Given the description of an element on the screen output the (x, y) to click on. 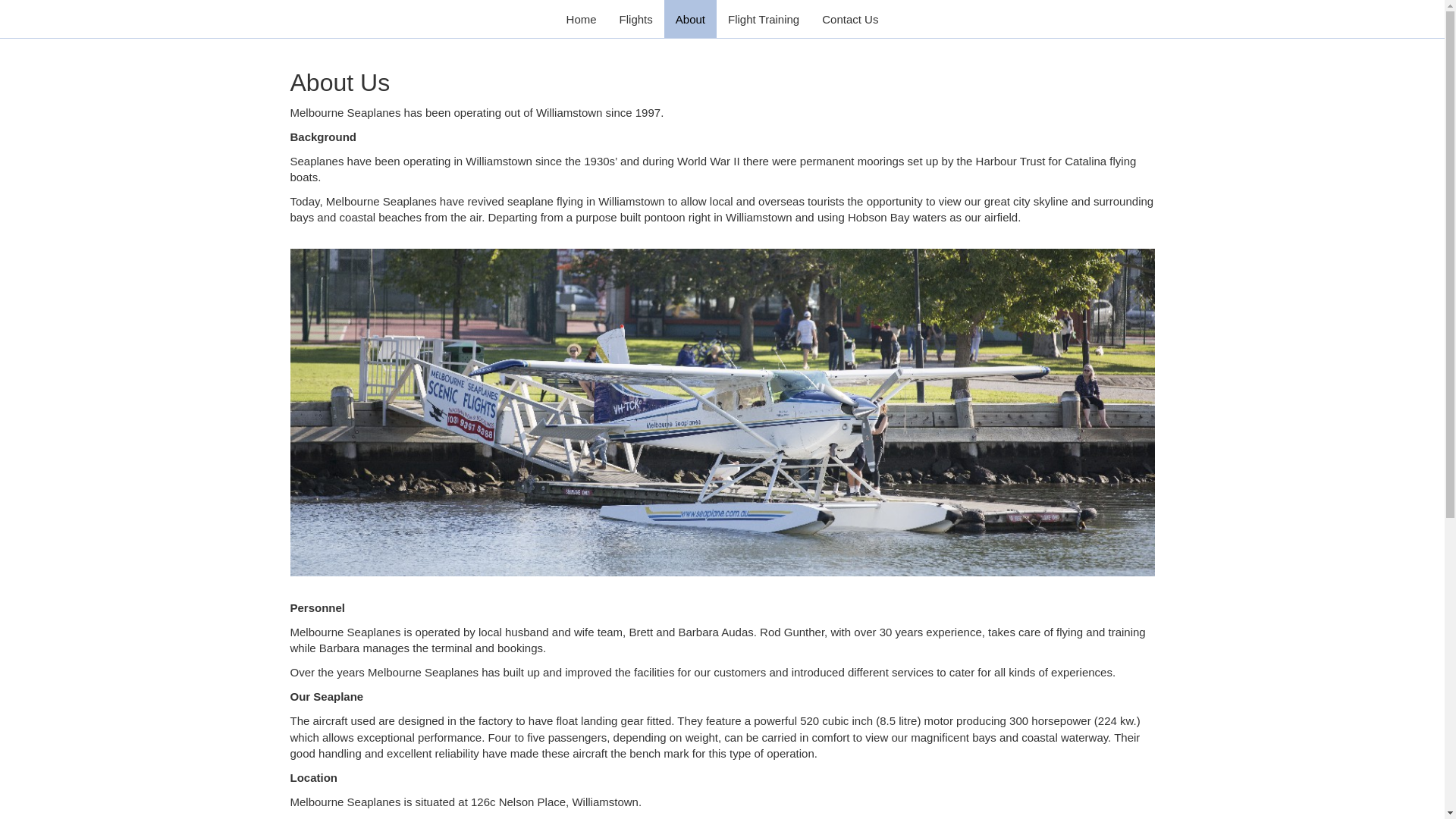
Home Element type: text (581, 18)
Flights Element type: text (636, 18)
Flight Training Element type: text (763, 18)
About Element type: text (690, 18)
Contact Us Element type: text (849, 18)
